Given the description of an element on the screen output the (x, y) to click on. 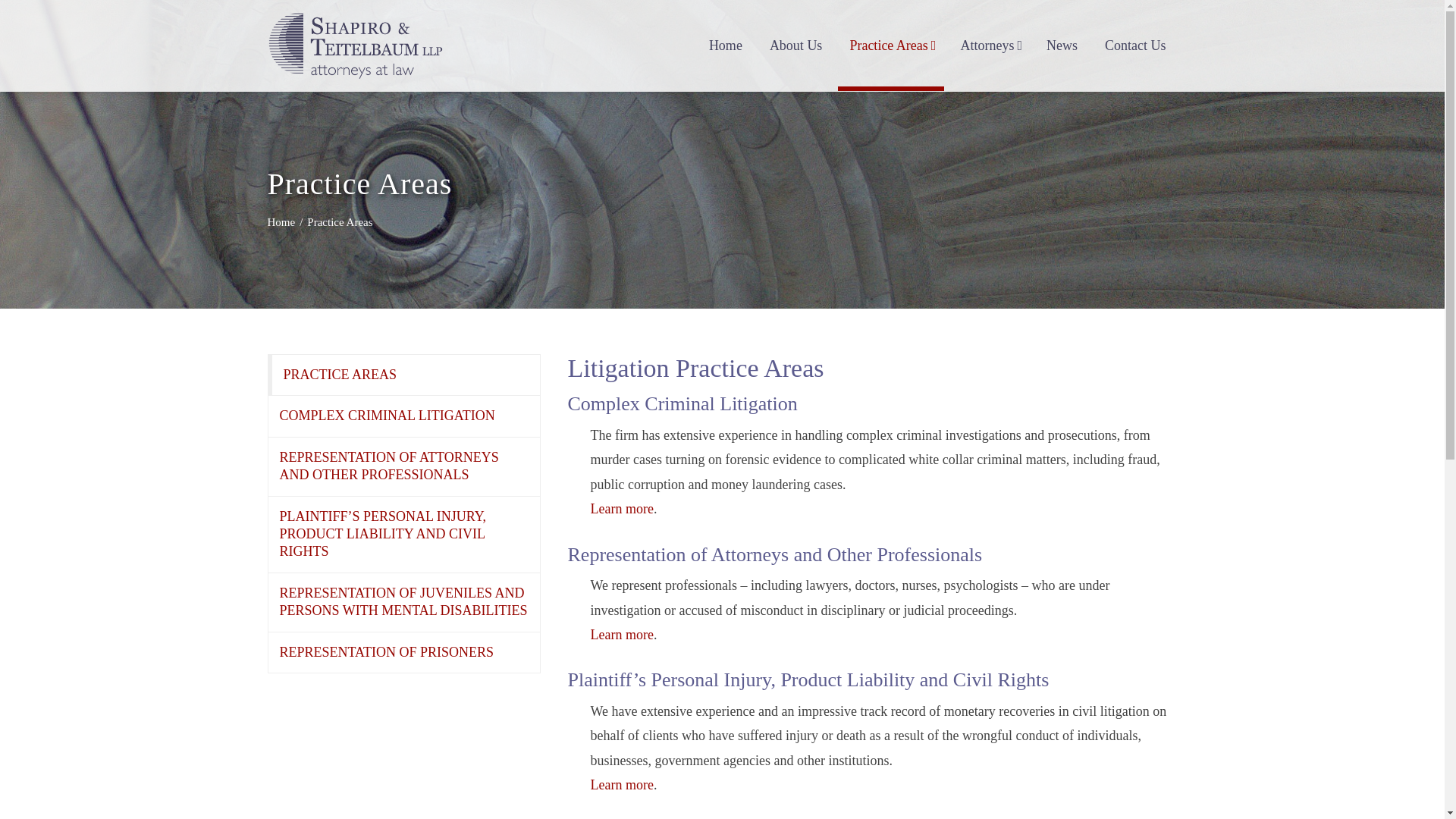
Learn more (620, 784)
REPRESENTATION OF ATTORNEYS AND OTHER PROFESSIONALS (403, 466)
COMPLEX CRIMINAL LITIGATION (403, 416)
Attorneys (989, 45)
Contact Us (1135, 45)
Learn more (620, 508)
Practice Areas (890, 45)
Home (280, 222)
Learn more (620, 634)
